Given the description of an element on the screen output the (x, y) to click on. 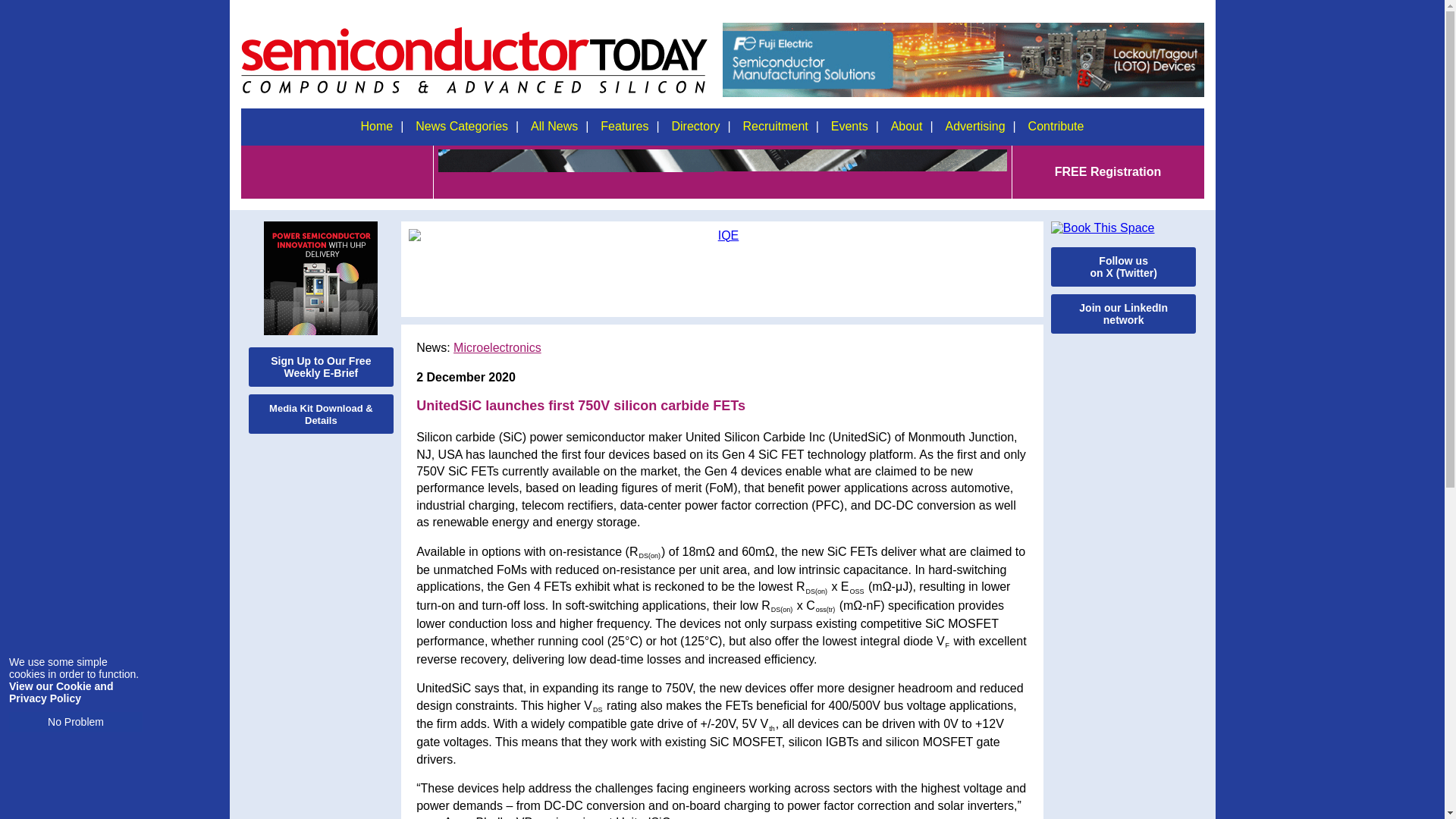
Features (624, 126)
Contribute (1056, 126)
Events (849, 126)
Home (376, 126)
News Categories (461, 126)
About (906, 126)
Recruitment (774, 126)
All News (554, 126)
FREE Registration (1107, 171)
Directory (694, 126)
